Given the description of an element on the screen output the (x, y) to click on. 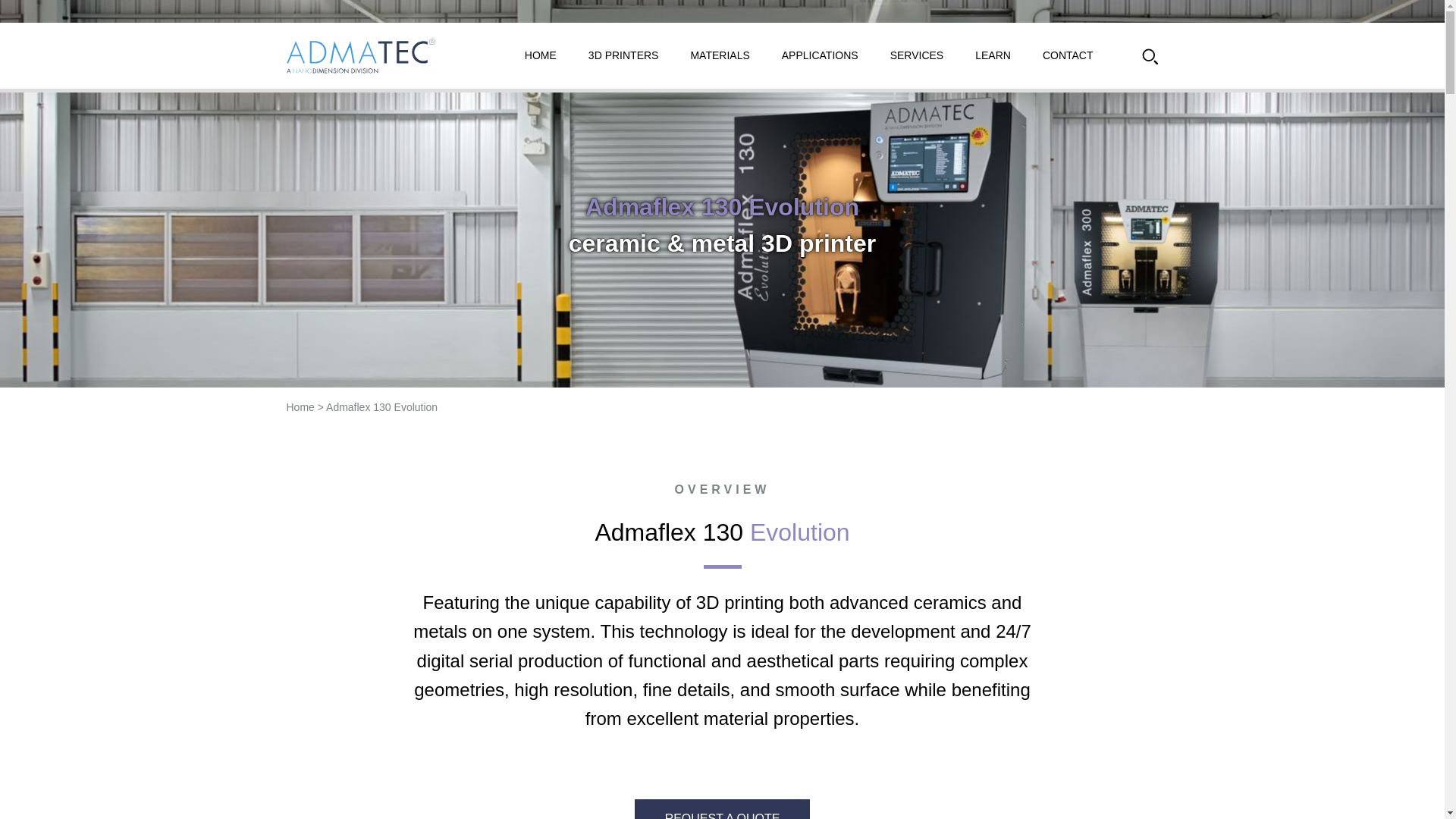
HOME (540, 55)
REQUEST A QUOTE (722, 809)
Search (1149, 56)
CONTACT (1067, 55)
Home (300, 407)
Search (1149, 56)
